Given the description of an element on the screen output the (x, y) to click on. 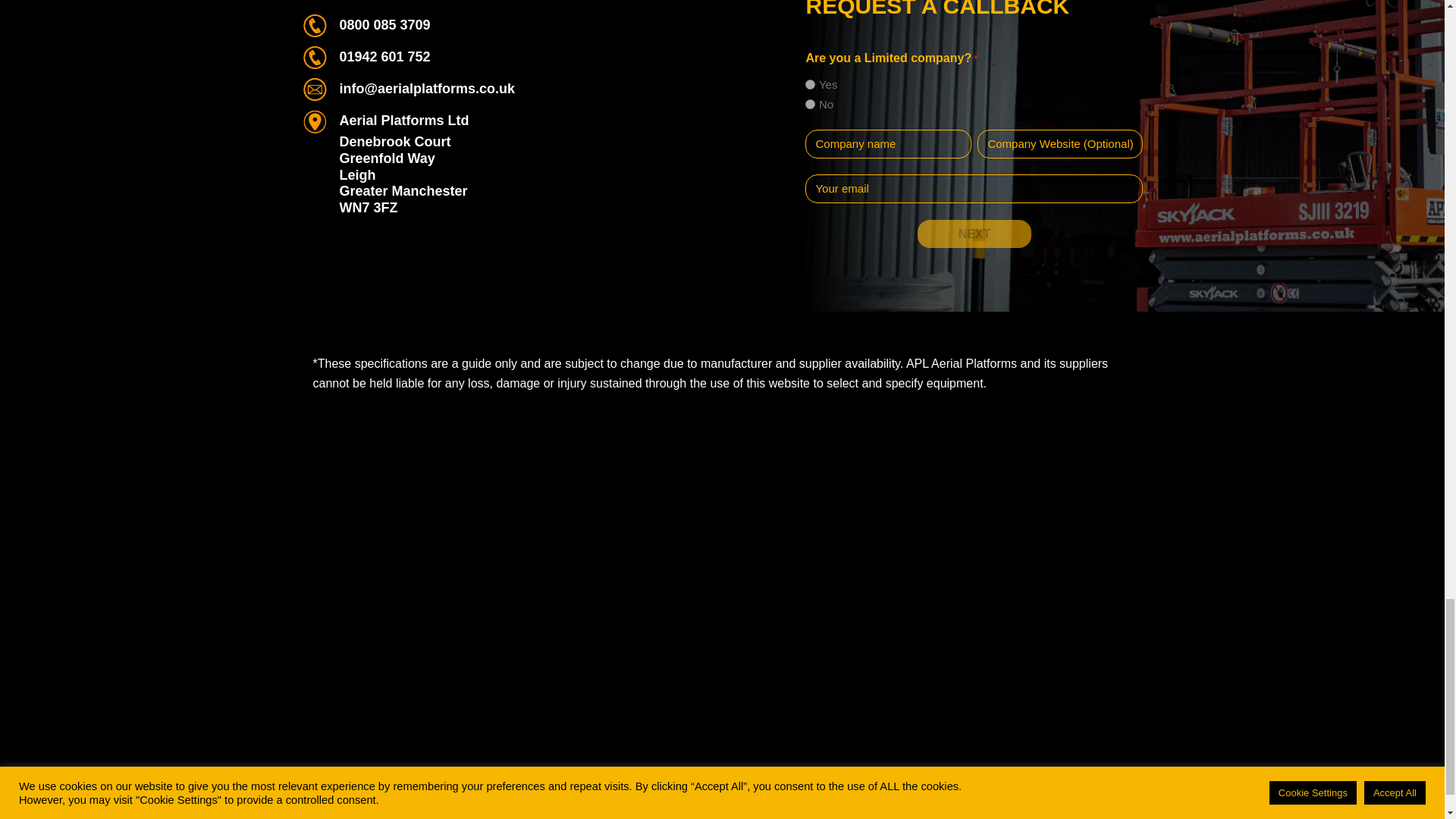
No (810, 103)
Yes (810, 84)
Next (973, 234)
